Given the description of an element on the screen output the (x, y) to click on. 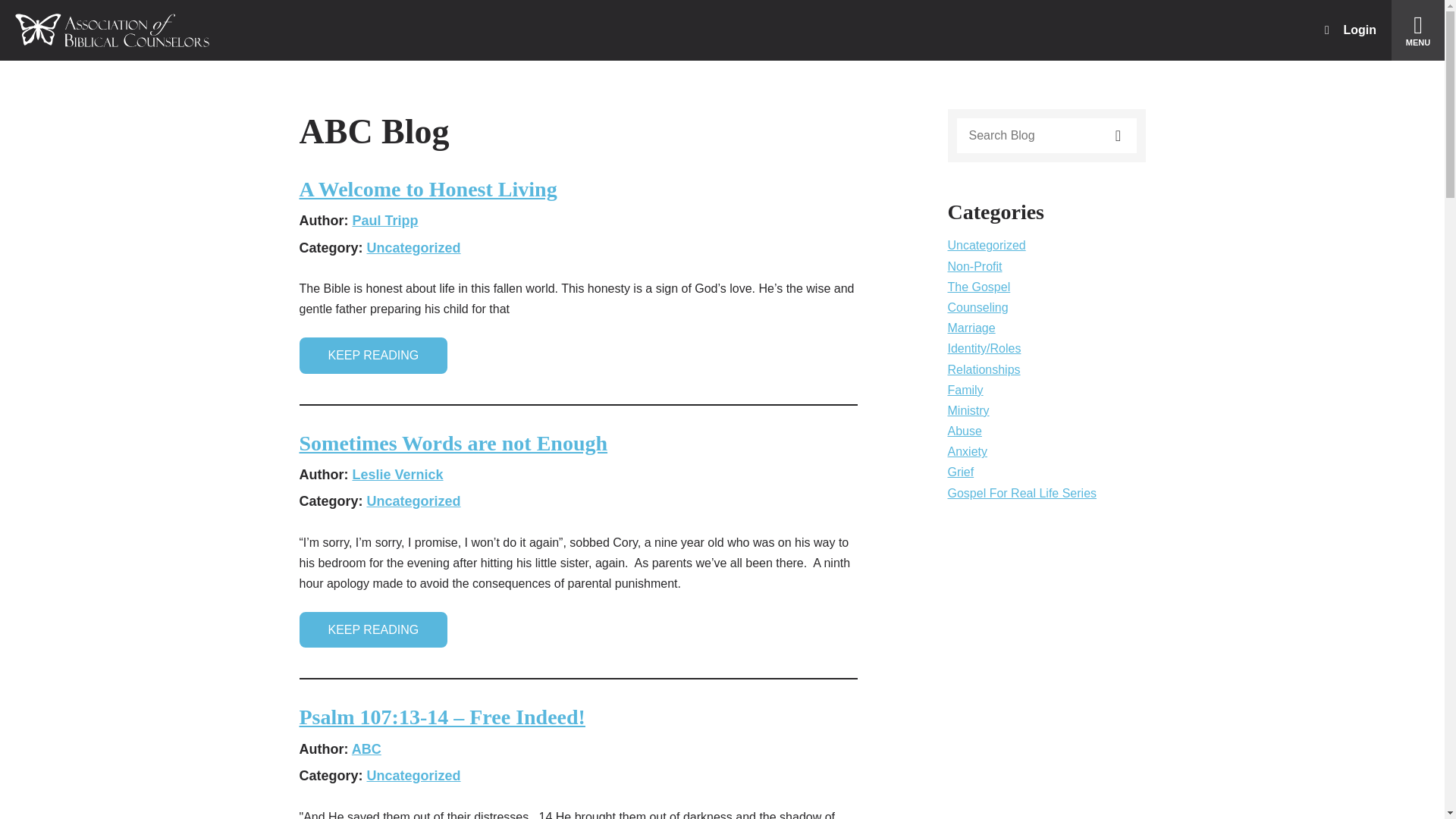
Association of Biblical Counselors (111, 29)
Login (1349, 29)
